Given the description of an element on the screen output the (x, y) to click on. 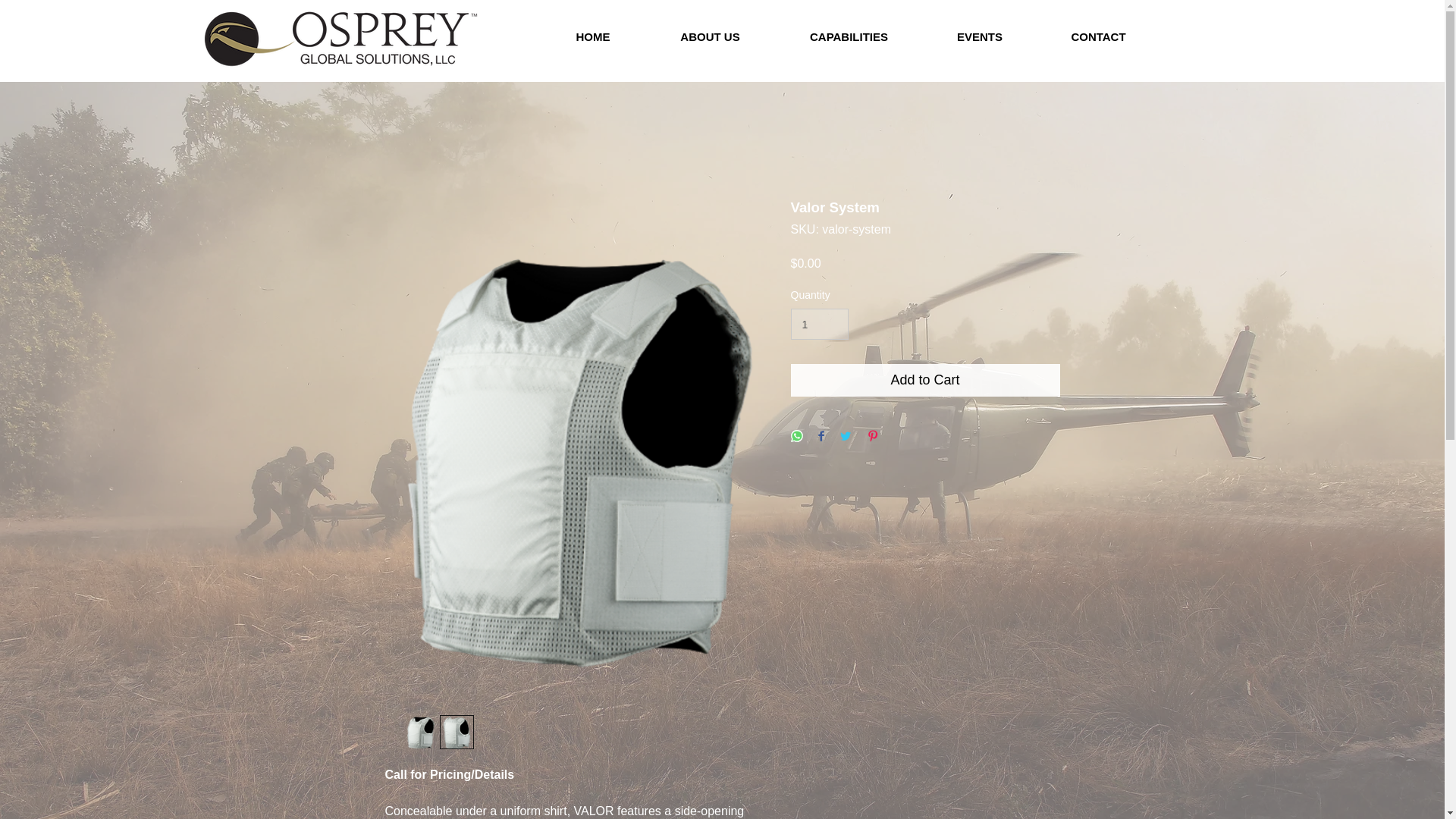
EVENTS (978, 36)
1 (818, 323)
CONTACT (1096, 36)
Add to Cart (924, 379)
HOME (593, 36)
